Given the description of an element on the screen output the (x, y) to click on. 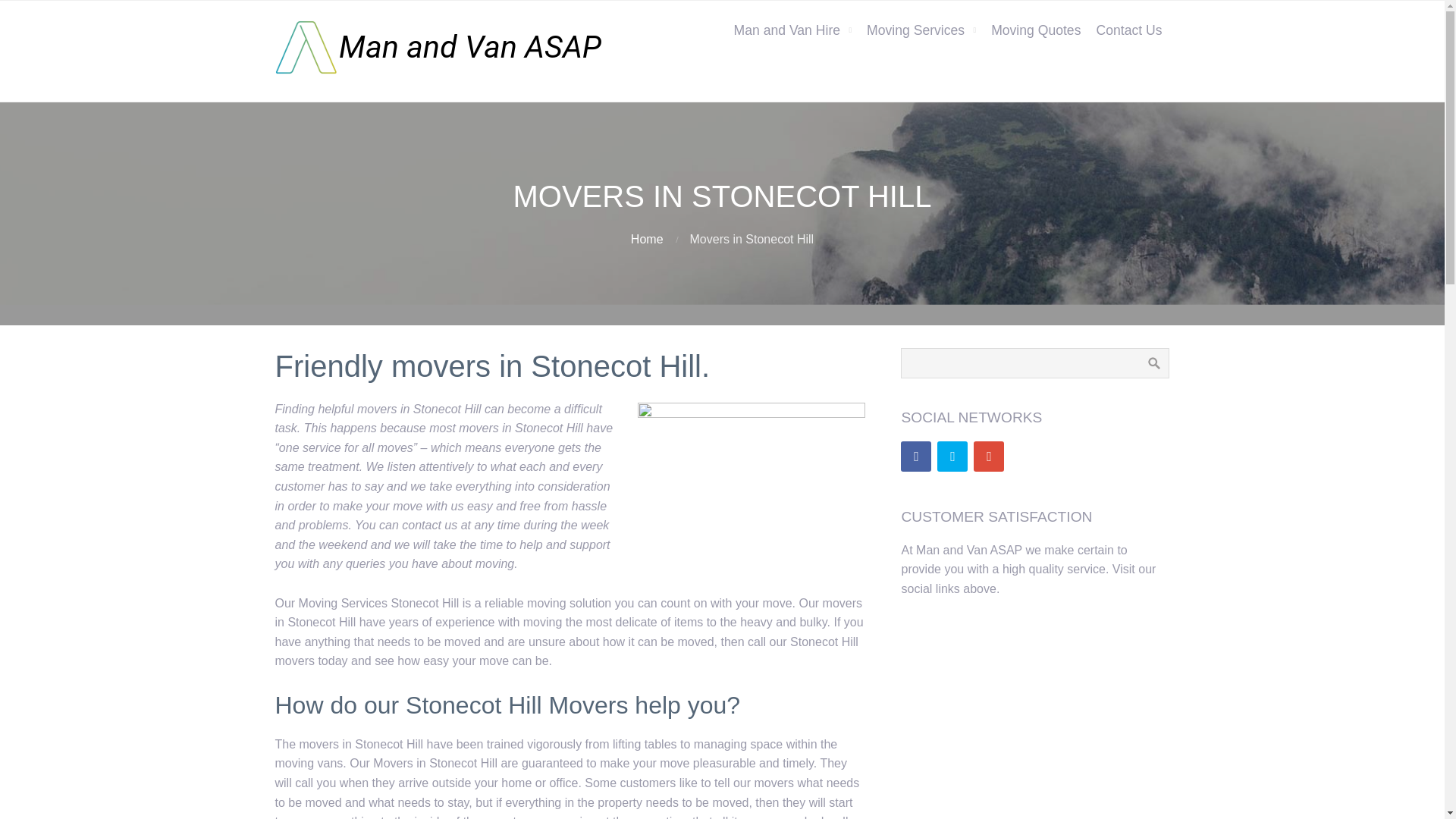
Search (1153, 363)
Contact Us (1128, 30)
Moving Quotes (1035, 30)
Home (646, 238)
Man and Van Hire (793, 30)
Facebook (916, 456)
Moving Services (921, 30)
Twitter (952, 456)
